Given the description of an element on the screen output the (x, y) to click on. 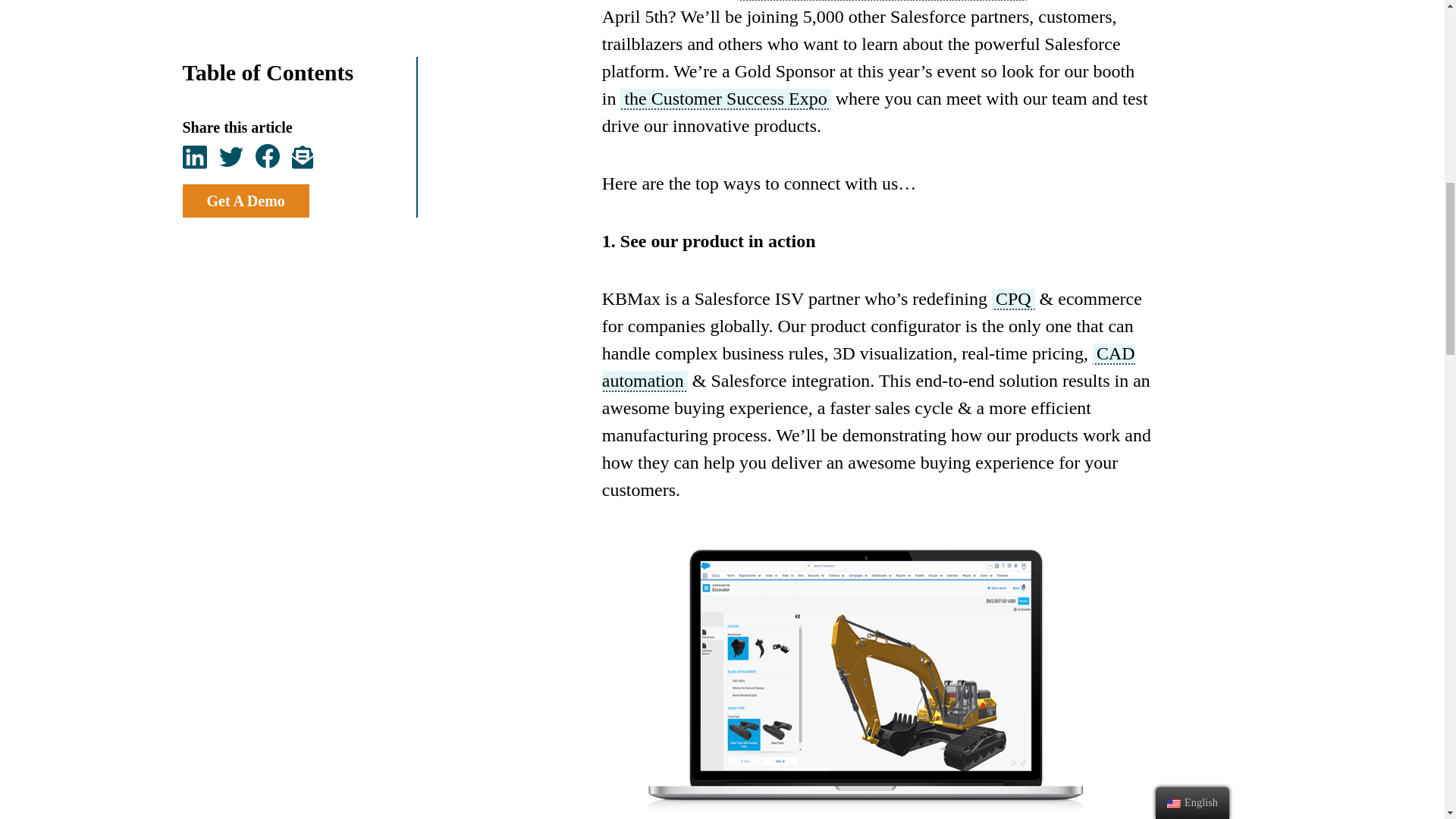
the Customer Success Expo (724, 98)
CPQ (1013, 299)
CAD automation (868, 367)
